Given the description of an element on the screen output the (x, y) to click on. 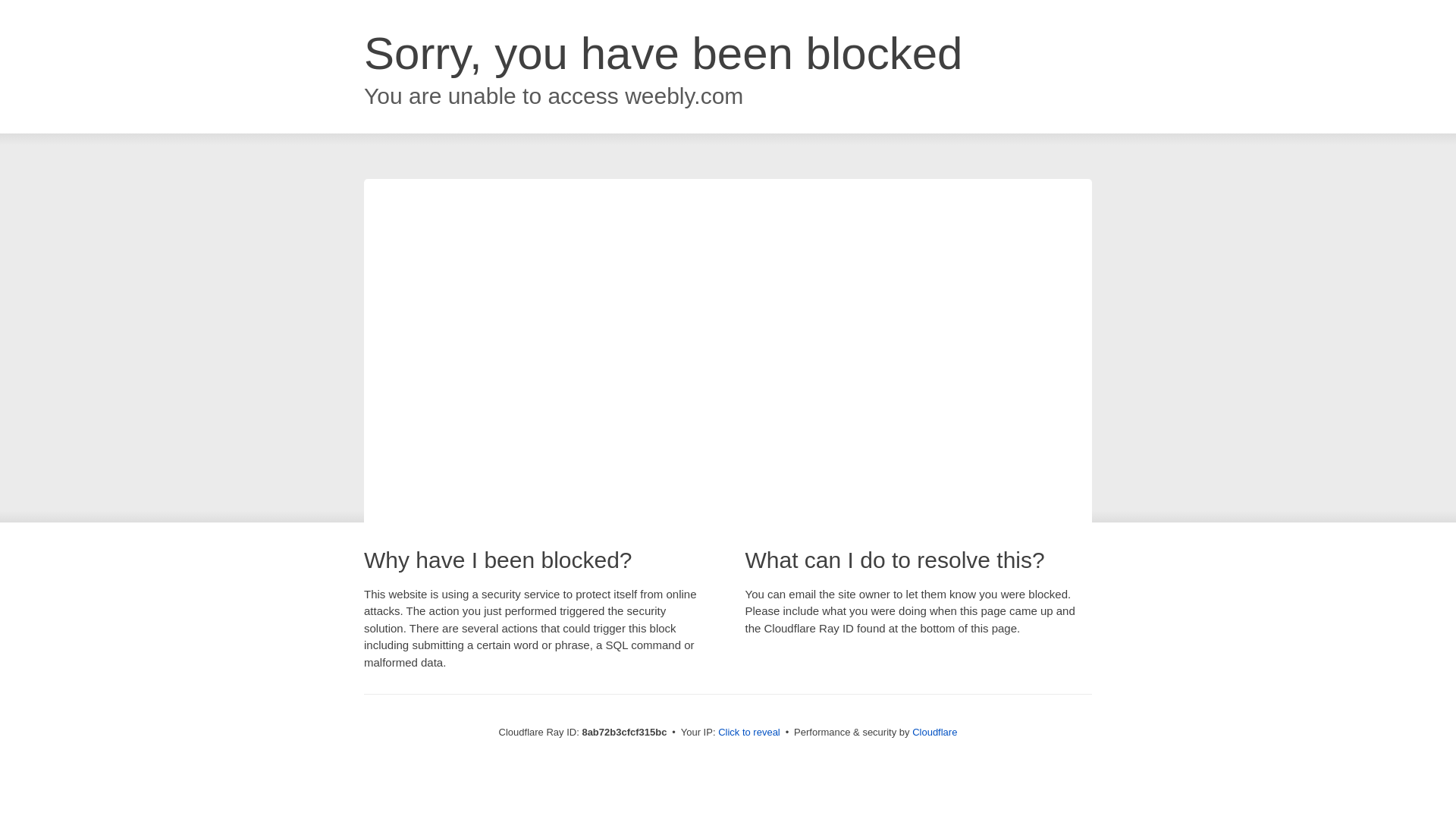
Cloudflare (934, 731)
Click to reveal (748, 732)
